Given the description of an element on the screen output the (x, y) to click on. 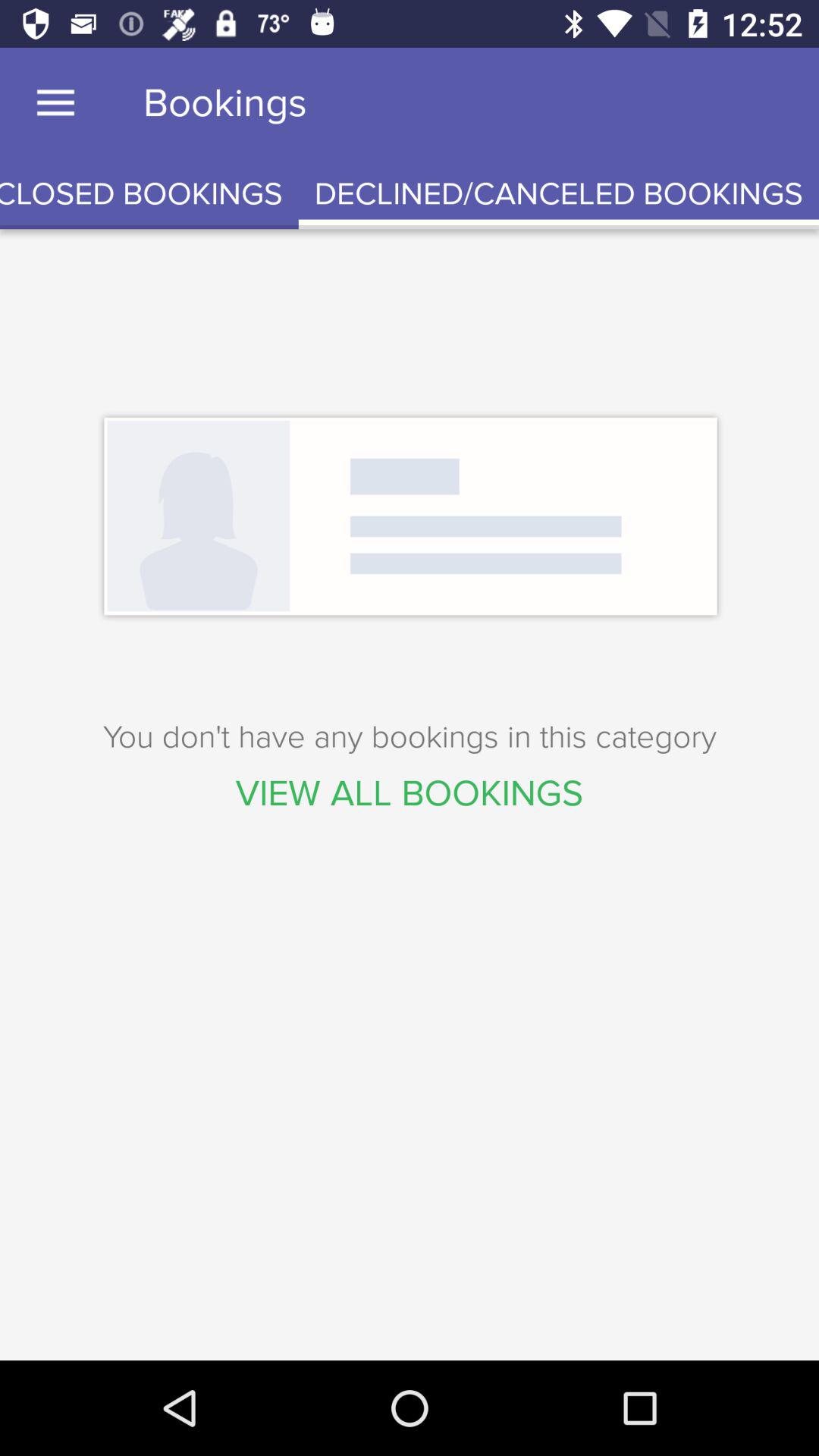
select icon below you don t item (409, 793)
